Given the description of an element on the screen output the (x, y) to click on. 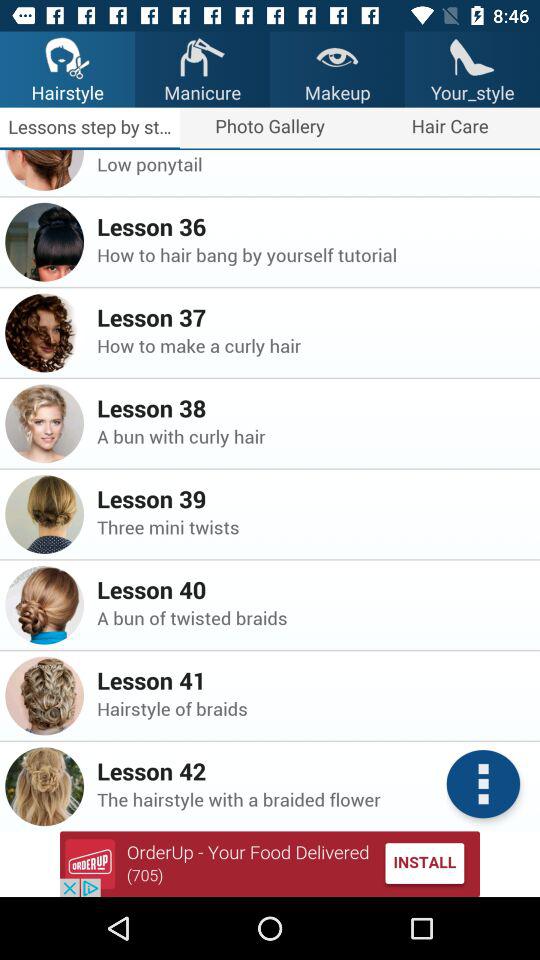
launch the hairstyle with (311, 799)
